Given the description of an element on the screen output the (x, y) to click on. 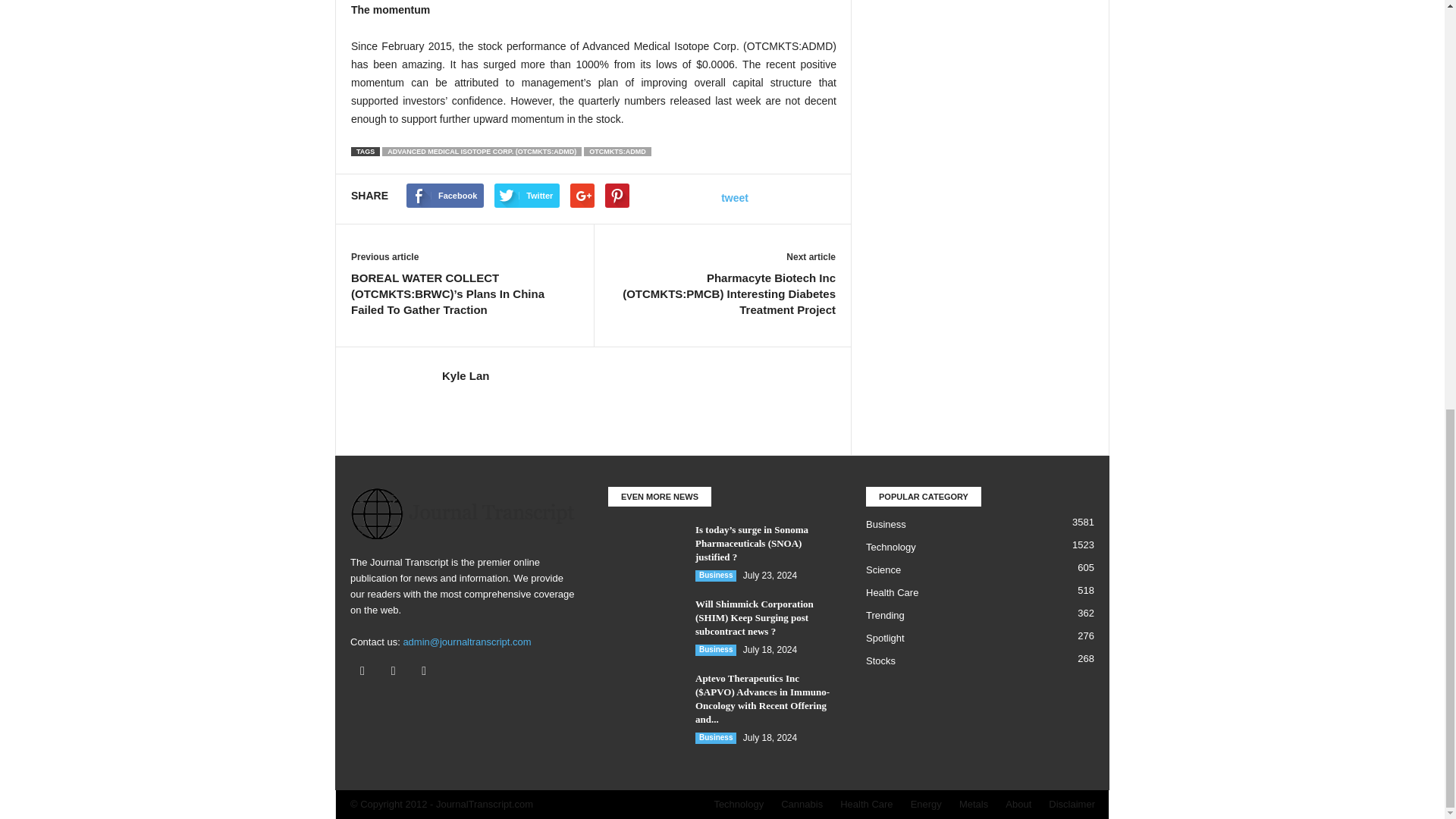
Facebook (365, 671)
Youtube (425, 671)
Twitter (396, 671)
